Given the description of an element on the screen output the (x, y) to click on. 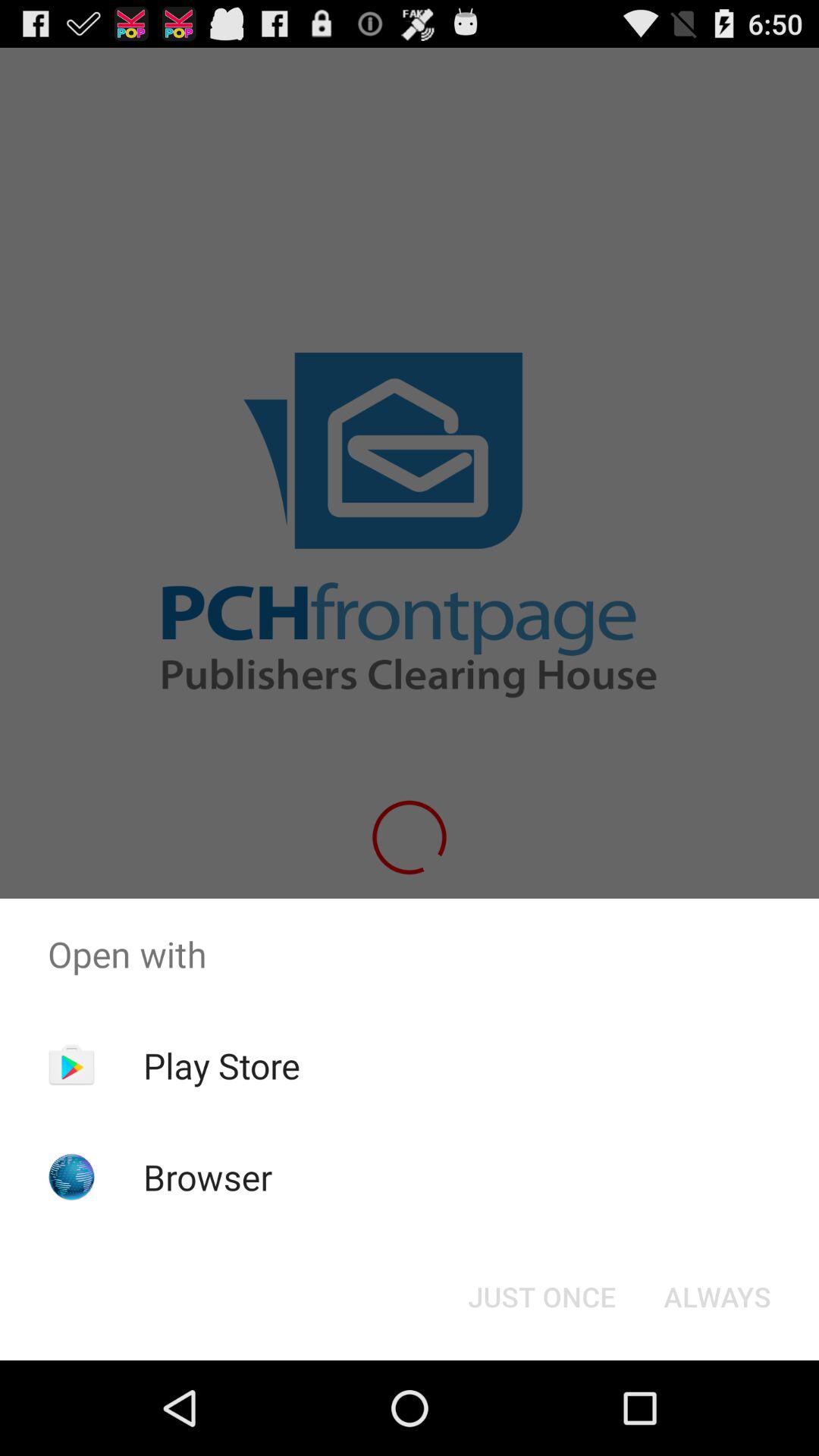
select the item below the open with item (717, 1296)
